Given the description of an element on the screen output the (x, y) to click on. 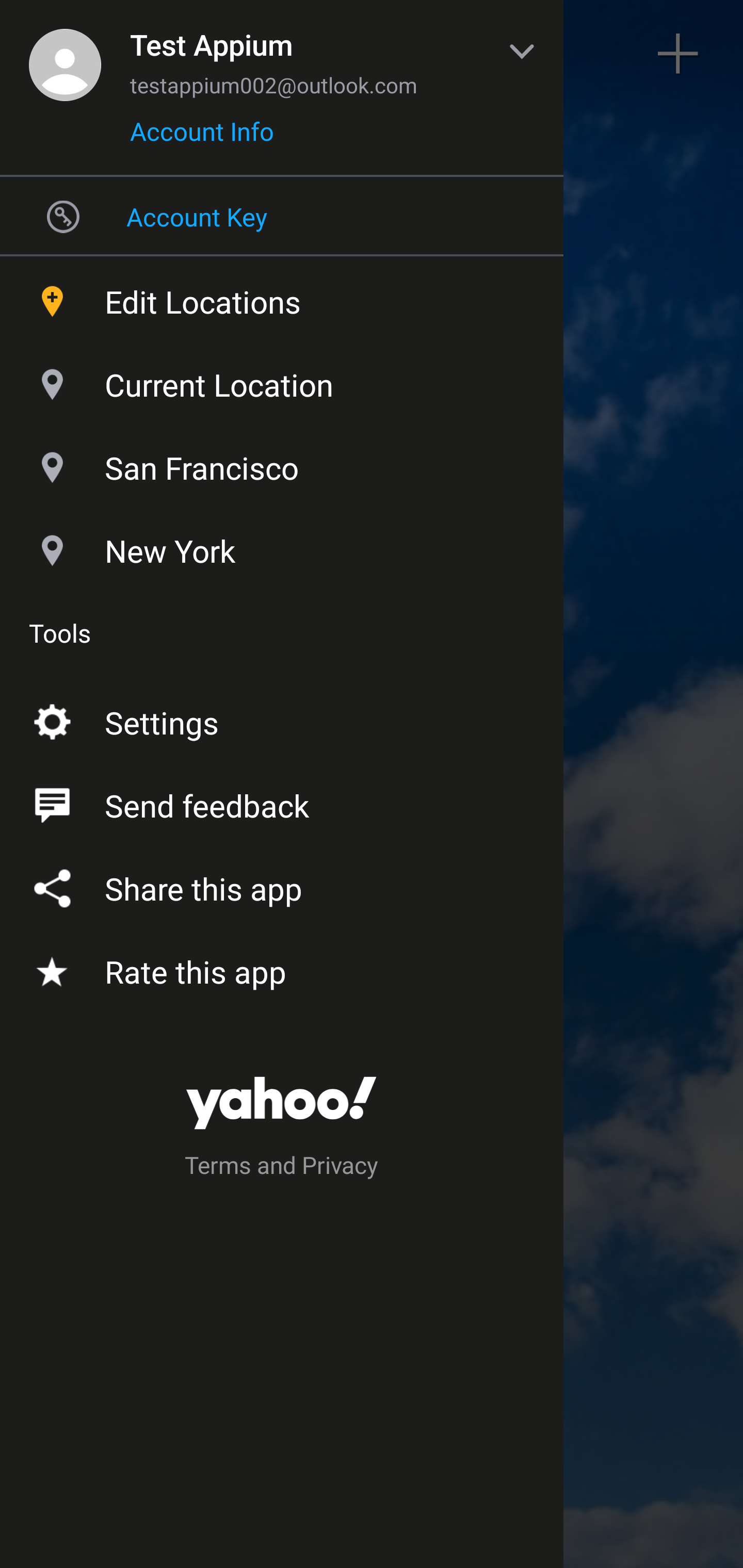
Sidebar (64, 54)
Account Info (202, 137)
Account Key (281, 216)
Edit Locations (281, 296)
Current Location (281, 379)
San Francisco (281, 462)
New York (281, 546)
Settings (281, 718)
Send feedback (281, 801)
Share this app (281, 884)
Terms and Privacy Terms and privacy button (281, 1168)
